Given the description of an element on the screen output the (x, y) to click on. 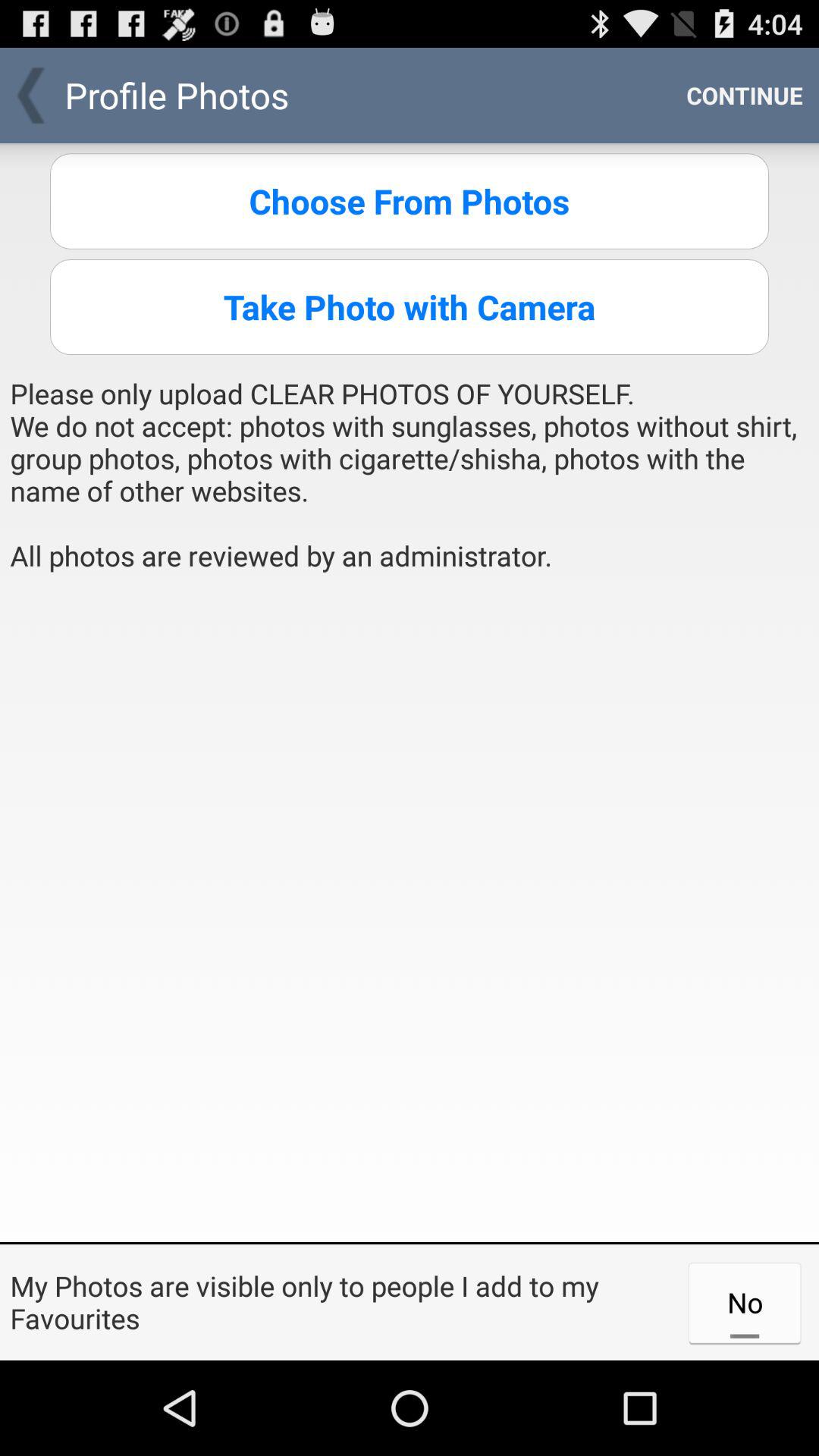
turn on continue (744, 95)
